Given the description of an element on the screen output the (x, y) to click on. 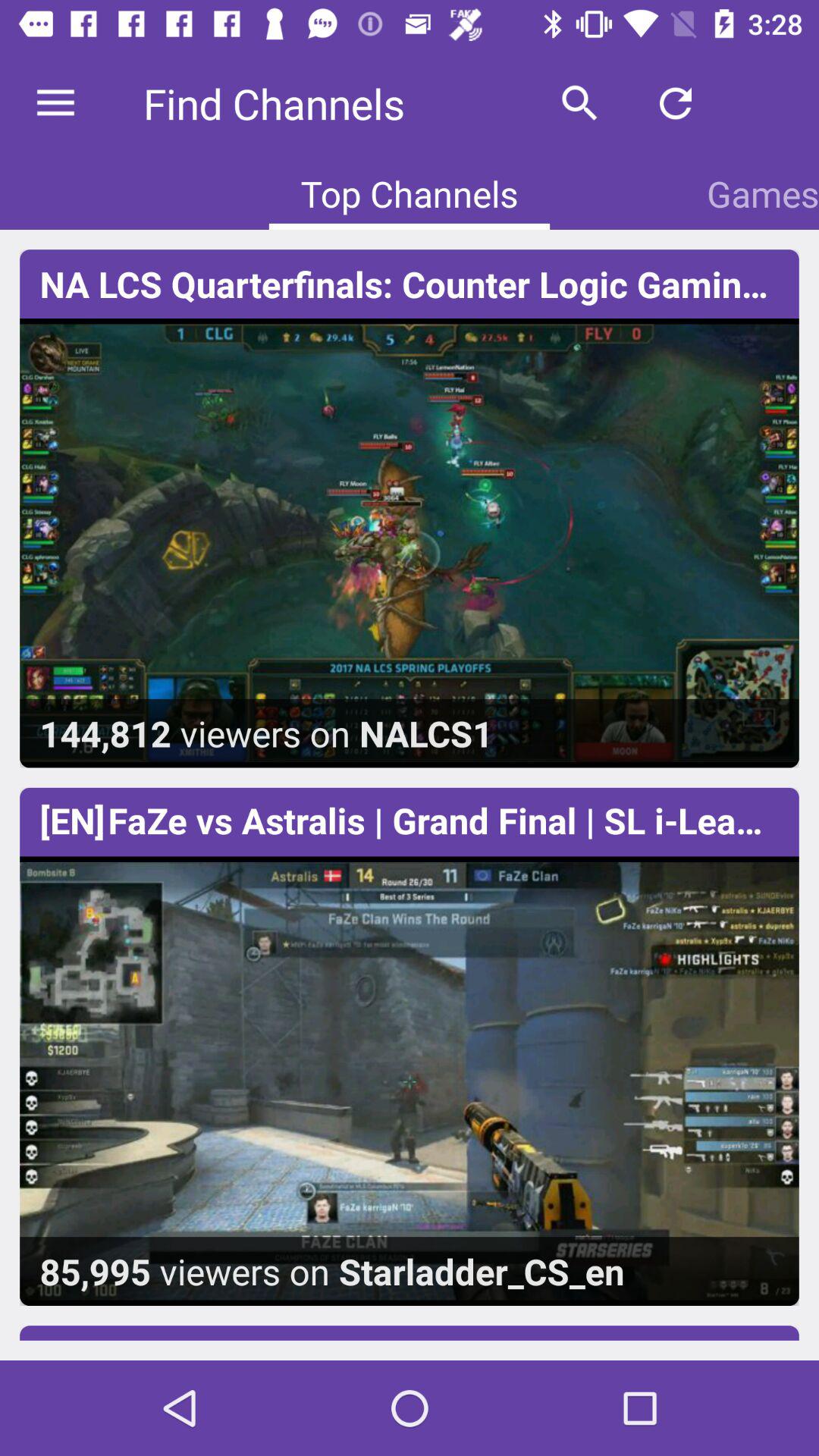
swipe until games icon (762, 193)
